Given the description of an element on the screen output the (x, y) to click on. 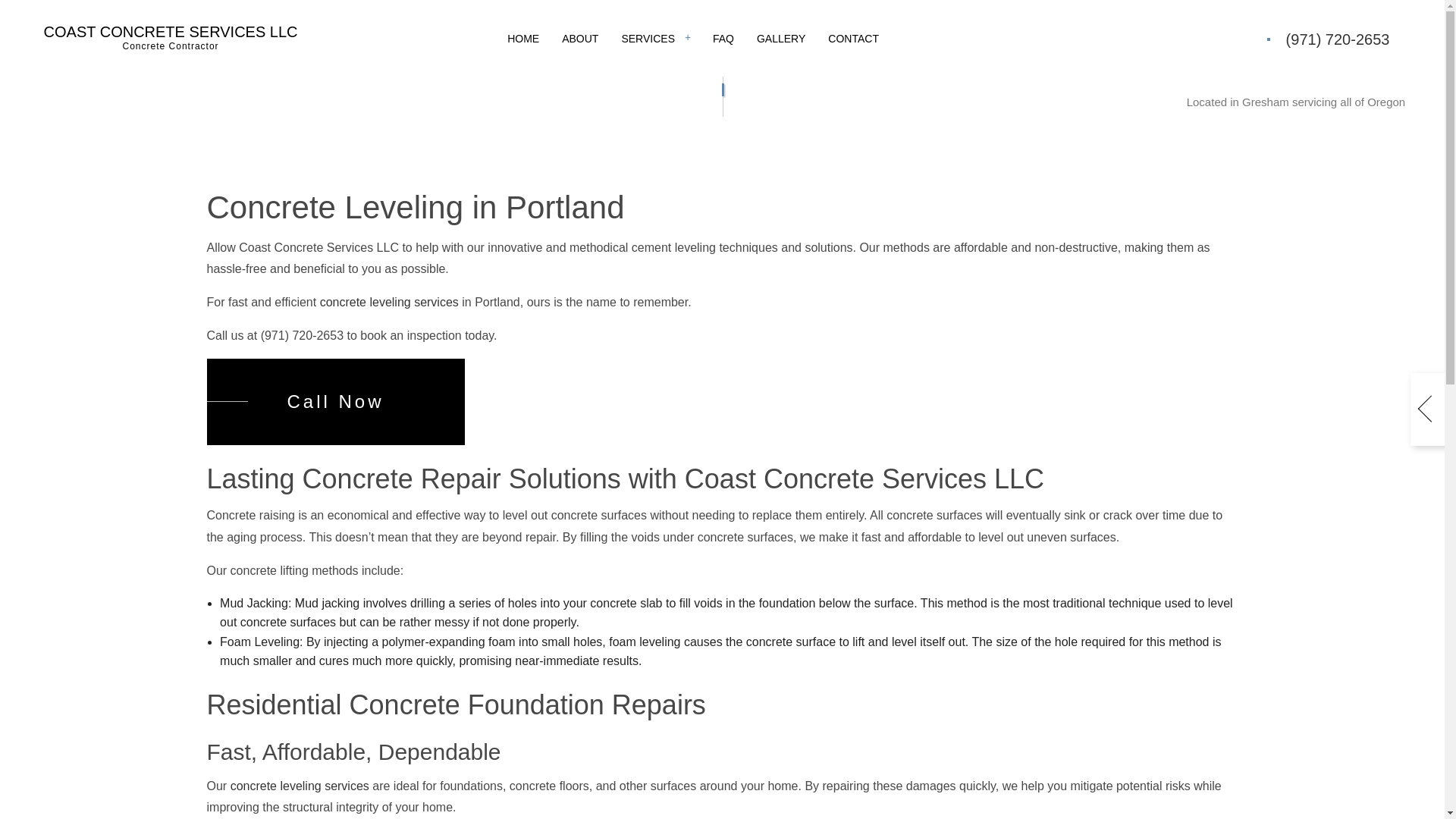
ABOUT (580, 39)
Concrete Contractor (299, 785)
CONCRETE DRIVEWAYS (740, 94)
HOME (523, 39)
SERVICES (655, 39)
Concrete Leveling (389, 301)
CONCRETE CONTRACTOR (170, 39)
Home (535, 94)
